Given the description of an element on the screen output the (x, y) to click on. 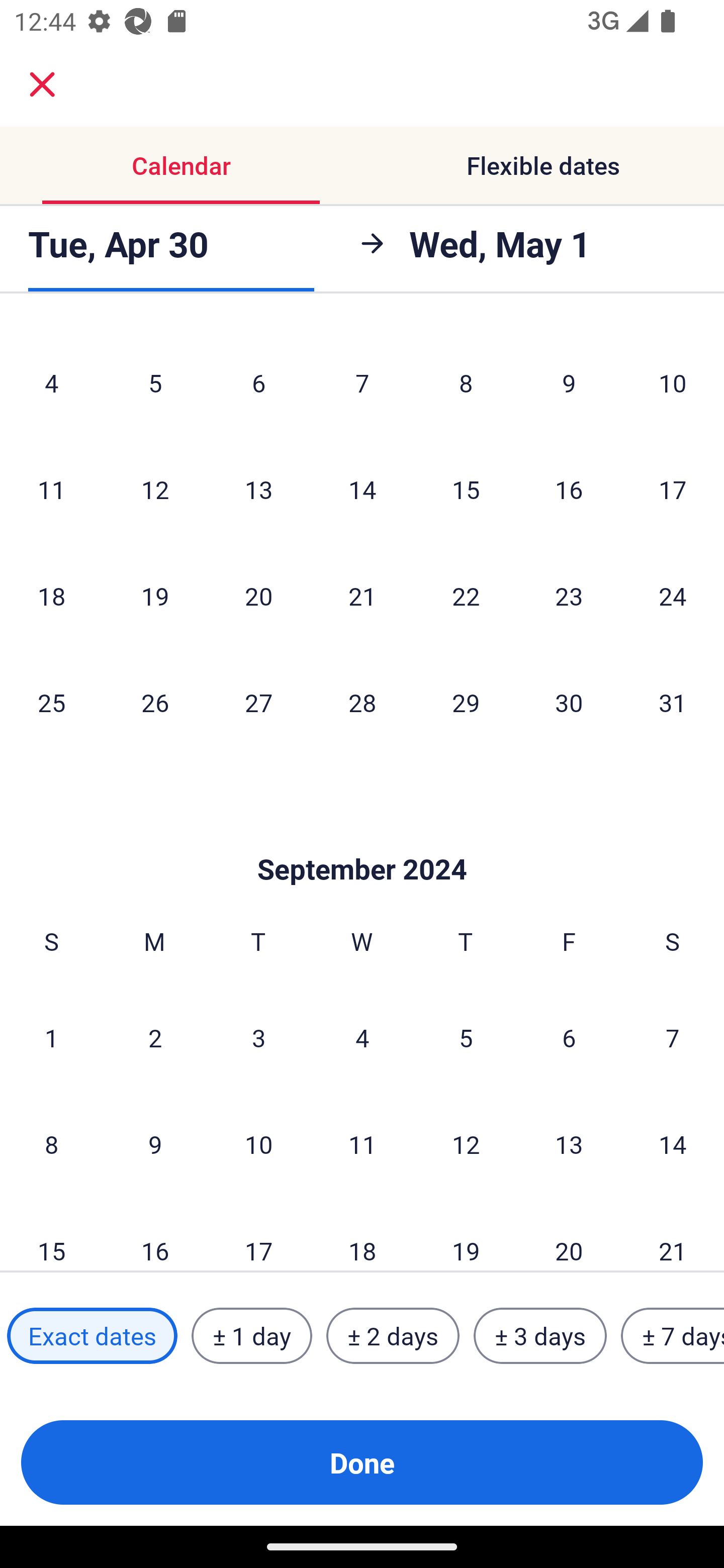
close. (42, 84)
Flexible dates (542, 164)
4 Sunday, August 4, 2024 (51, 382)
5 Monday, August 5, 2024 (155, 382)
6 Tuesday, August 6, 2024 (258, 382)
7 Wednesday, August 7, 2024 (362, 382)
8 Thursday, August 8, 2024 (465, 382)
9 Friday, August 9, 2024 (569, 382)
10 Saturday, August 10, 2024 (672, 382)
11 Sunday, August 11, 2024 (51, 488)
12 Monday, August 12, 2024 (155, 488)
13 Tuesday, August 13, 2024 (258, 488)
14 Wednesday, August 14, 2024 (362, 488)
15 Thursday, August 15, 2024 (465, 488)
16 Friday, August 16, 2024 (569, 488)
17 Saturday, August 17, 2024 (672, 488)
18 Sunday, August 18, 2024 (51, 595)
19 Monday, August 19, 2024 (155, 595)
20 Tuesday, August 20, 2024 (258, 595)
21 Wednesday, August 21, 2024 (362, 595)
22 Thursday, August 22, 2024 (465, 595)
23 Friday, August 23, 2024 (569, 595)
24 Saturday, August 24, 2024 (672, 595)
25 Sunday, August 25, 2024 (51, 702)
26 Monday, August 26, 2024 (155, 702)
27 Tuesday, August 27, 2024 (258, 702)
28 Wednesday, August 28, 2024 (362, 702)
29 Thursday, August 29, 2024 (465, 702)
30 Friday, August 30, 2024 (569, 702)
31 Saturday, August 31, 2024 (672, 702)
Skip to Done (362, 838)
1 Sunday, September 1, 2024 (51, 1037)
2 Monday, September 2, 2024 (155, 1037)
3 Tuesday, September 3, 2024 (258, 1037)
4 Wednesday, September 4, 2024 (362, 1037)
5 Thursday, September 5, 2024 (465, 1037)
6 Friday, September 6, 2024 (569, 1037)
7 Saturday, September 7, 2024 (672, 1037)
8 Sunday, September 8, 2024 (51, 1143)
9 Monday, September 9, 2024 (155, 1143)
10 Tuesday, September 10, 2024 (258, 1143)
11 Wednesday, September 11, 2024 (362, 1143)
12 Thursday, September 12, 2024 (465, 1143)
13 Friday, September 13, 2024 (569, 1143)
14 Saturday, September 14, 2024 (672, 1143)
15 Sunday, September 15, 2024 (51, 1234)
16 Monday, September 16, 2024 (155, 1234)
17 Tuesday, September 17, 2024 (258, 1234)
18 Wednesday, September 18, 2024 (362, 1234)
19 Thursday, September 19, 2024 (465, 1234)
20 Friday, September 20, 2024 (569, 1234)
21 Saturday, September 21, 2024 (672, 1234)
Exact dates (92, 1335)
± 1 day (251, 1335)
± 2 days (392, 1335)
± 3 days (539, 1335)
± 7 days (672, 1335)
Done (361, 1462)
